Given the description of an element on the screen output the (x, y) to click on. 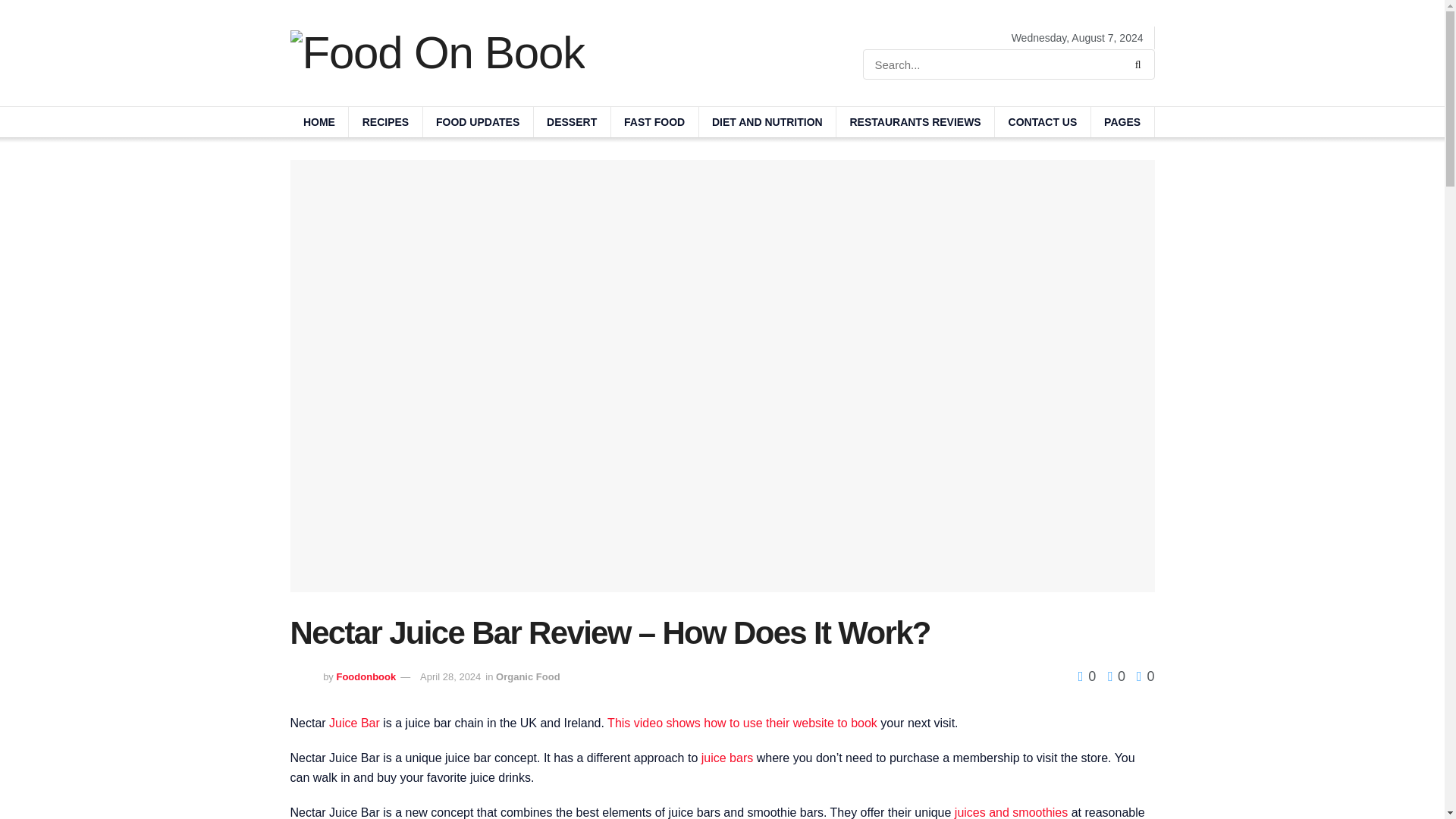
CONTACT US (1042, 122)
PAGES (1122, 122)
FAST FOOD (654, 122)
DIET AND NUTRITION (766, 122)
New juice bar opens in Flower Mound (726, 757)
HOME (318, 122)
FOOD UPDATES (477, 122)
DESSERT (572, 122)
RECIPES (385, 122)
RESTAURANTS REVIEWS (914, 122)
